Given the description of an element on the screen output the (x, y) to click on. 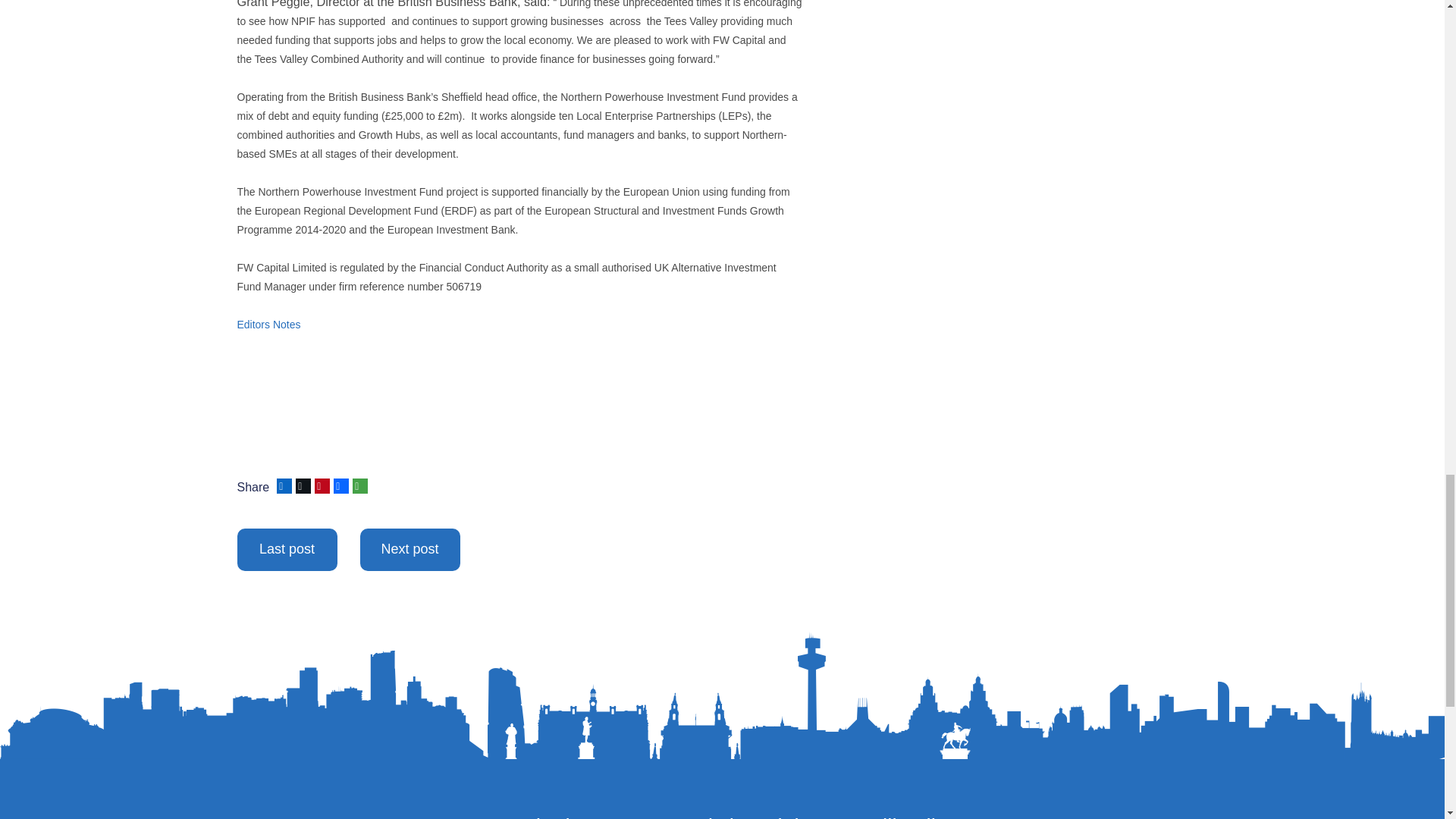
More Options (358, 485)
Facebook (339, 485)
LinkedIn (282, 485)
Pinterest (320, 485)
